Given the description of an element on the screen output the (x, y) to click on. 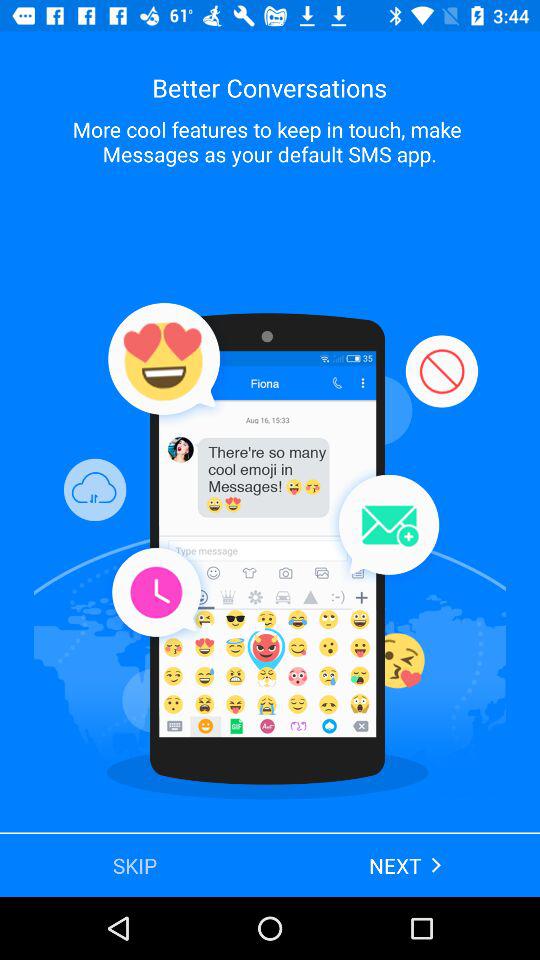
turn off the icon next to the next (135, 864)
